Given the description of an element on the screen output the (x, y) to click on. 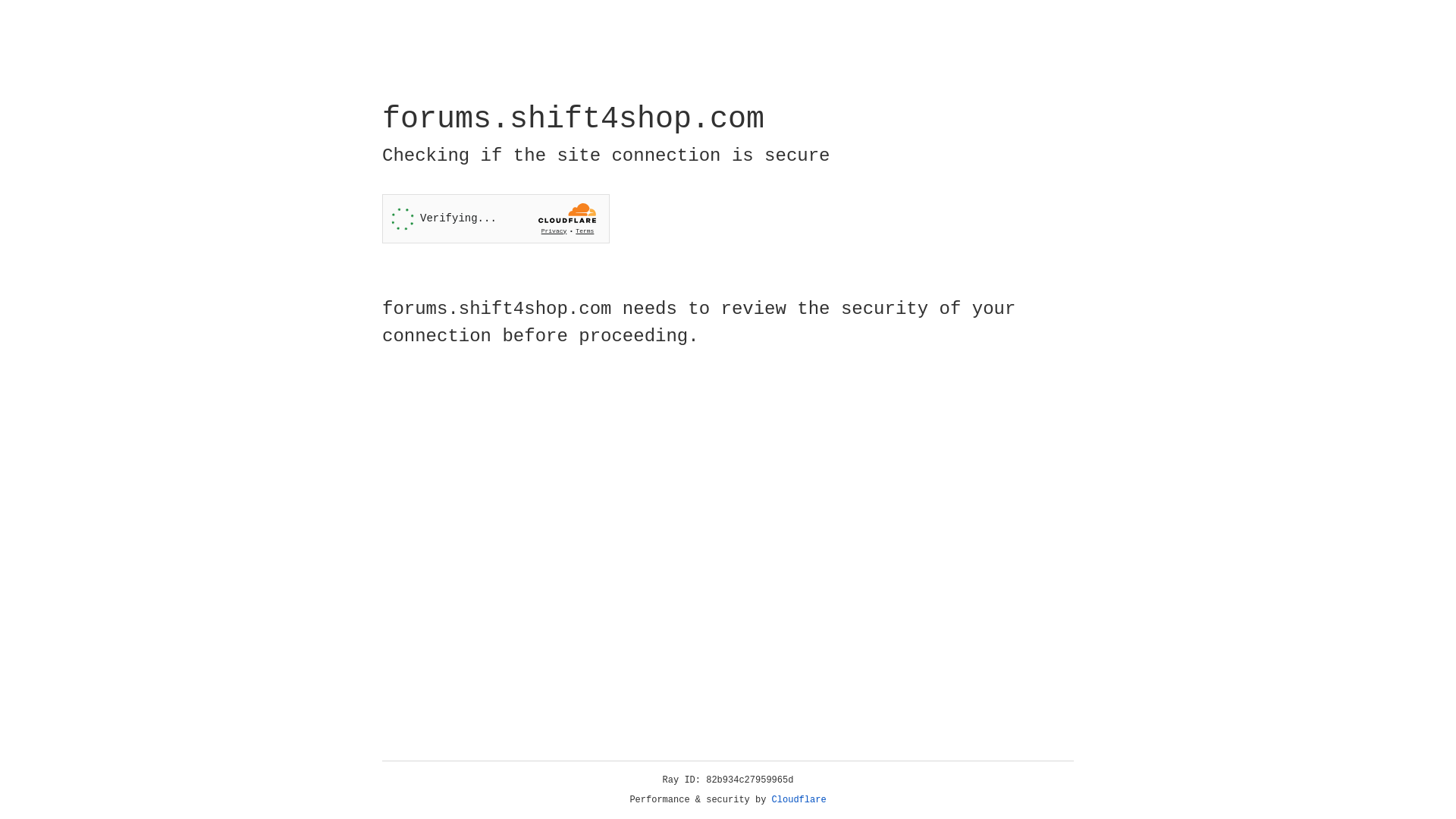
Cloudflare Element type: text (798, 799)
Widget containing a Cloudflare security challenge Element type: hover (495, 218)
